Given the description of an element on the screen output the (x, y) to click on. 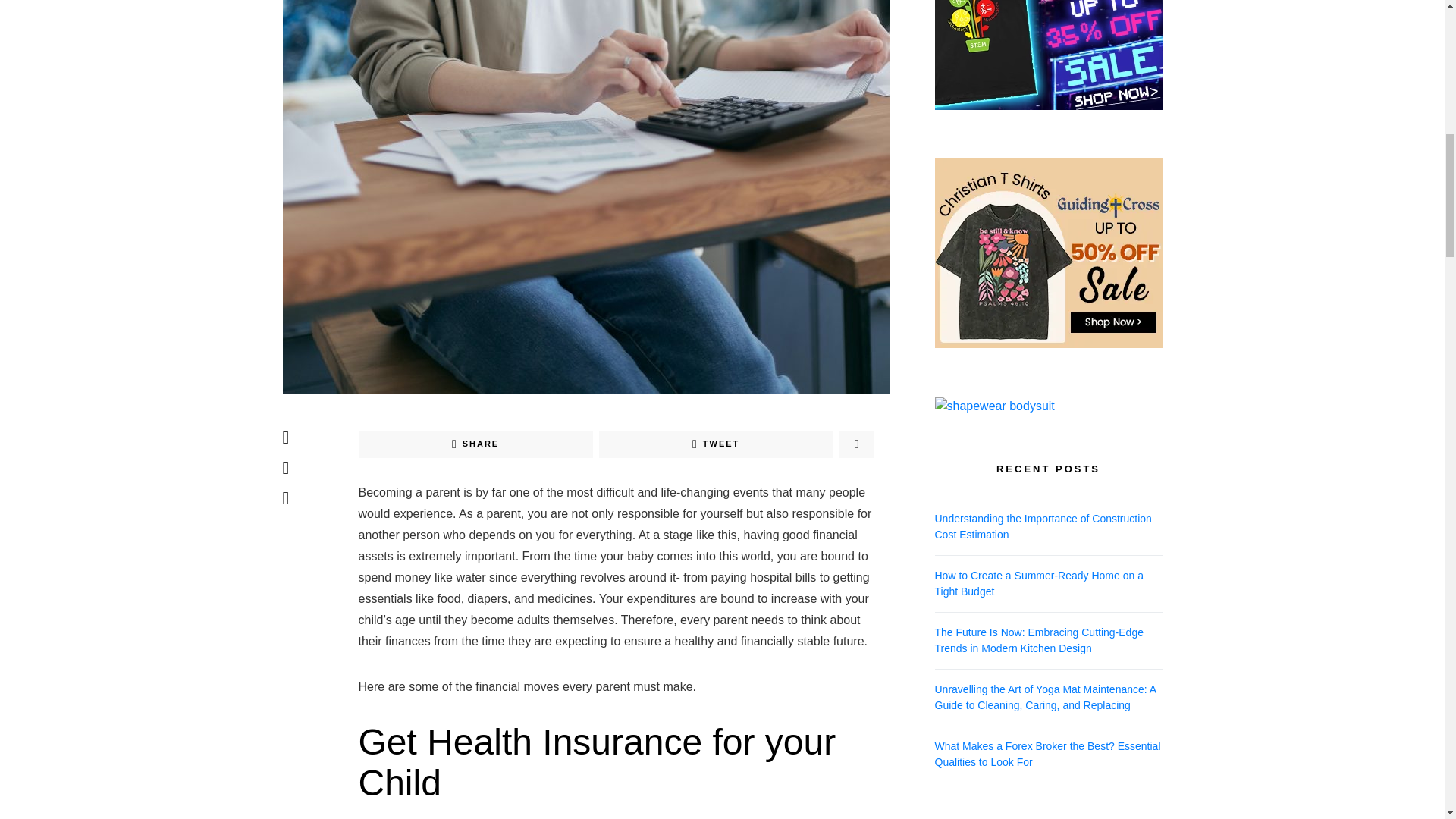
SHARE (475, 443)
christian t shirts (1047, 124)
TWEET (715, 443)
